Given the description of an element on the screen output the (x, y) to click on. 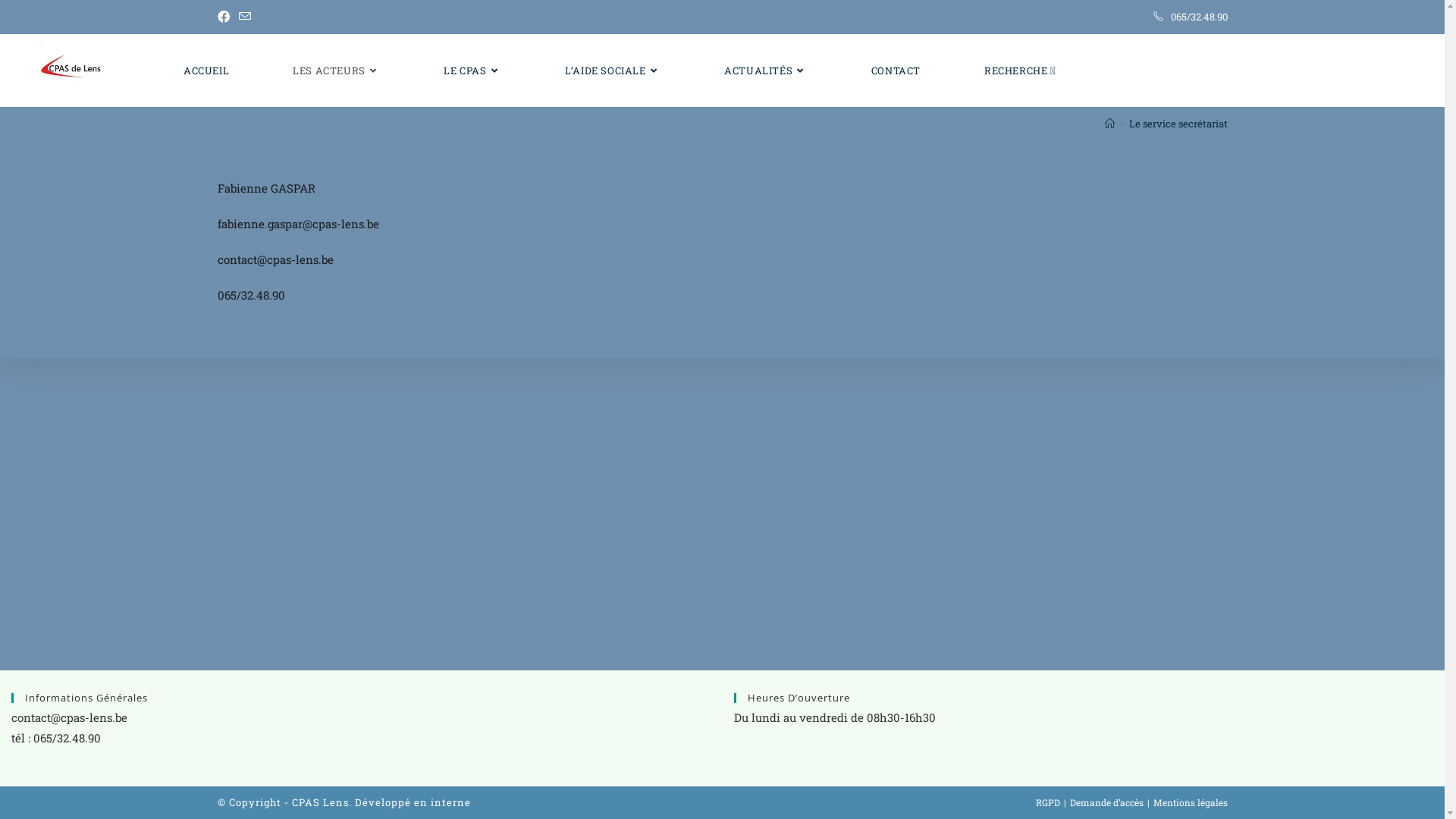
LES ACTEURS Element type: text (335, 70)
ACCUEIL Element type: text (205, 70)
LE CPAS Element type: text (472, 70)
CONTACT Element type: text (895, 70)
RGPD Element type: text (1047, 802)
